Given the description of an element on the screen output the (x, y) to click on. 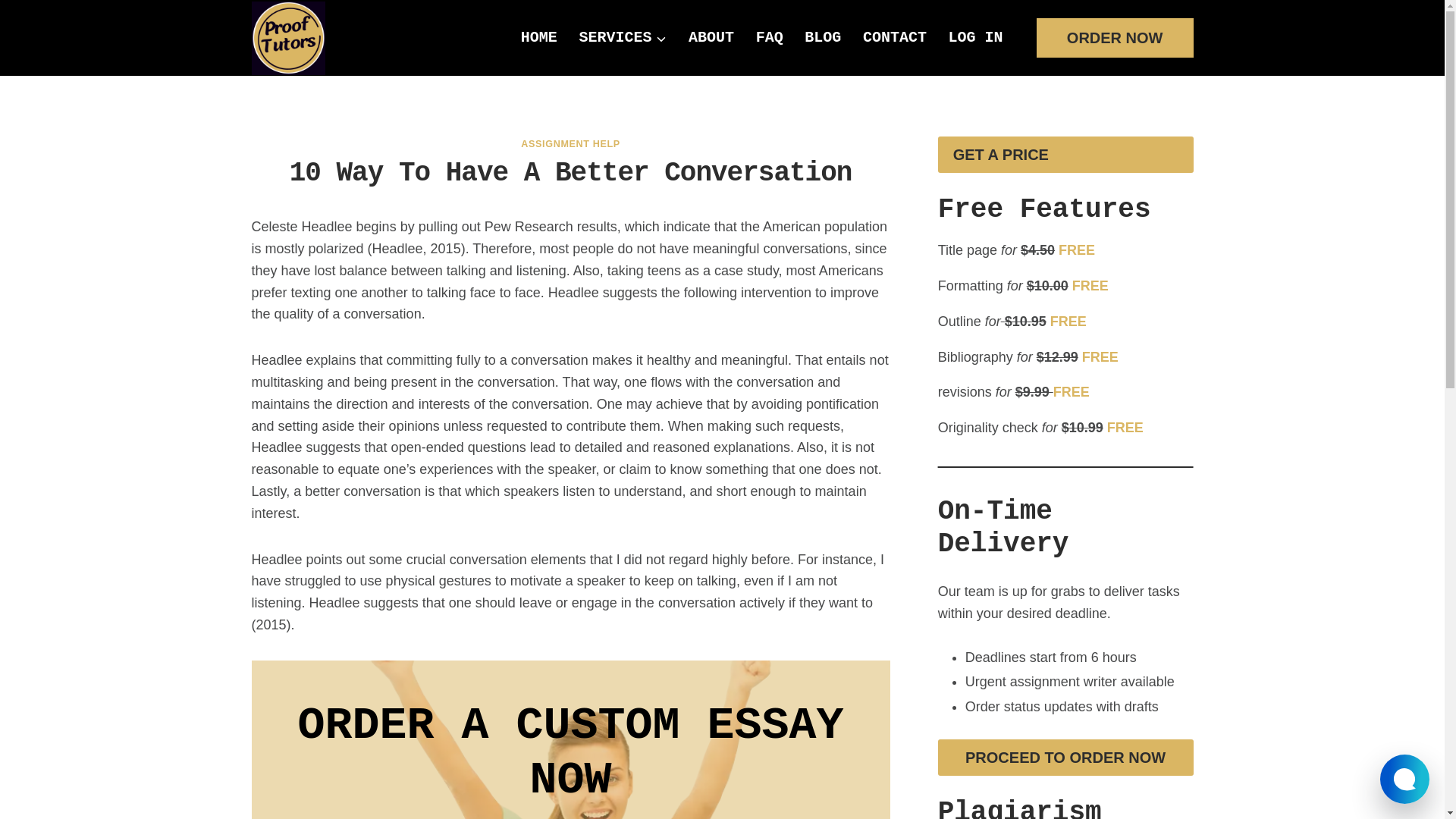
PROCEED TO ORDER NOW (1065, 757)
SERVICES (622, 37)
FAQ (768, 37)
ASSIGNMENT HELP (570, 143)
CONTACT (894, 37)
HOME (540, 37)
GET A PRICE (1065, 154)
BLOG (822, 37)
ORDER NOW (1114, 37)
LOG IN (975, 37)
ABOUT (711, 37)
